Given the description of an element on the screen output the (x, y) to click on. 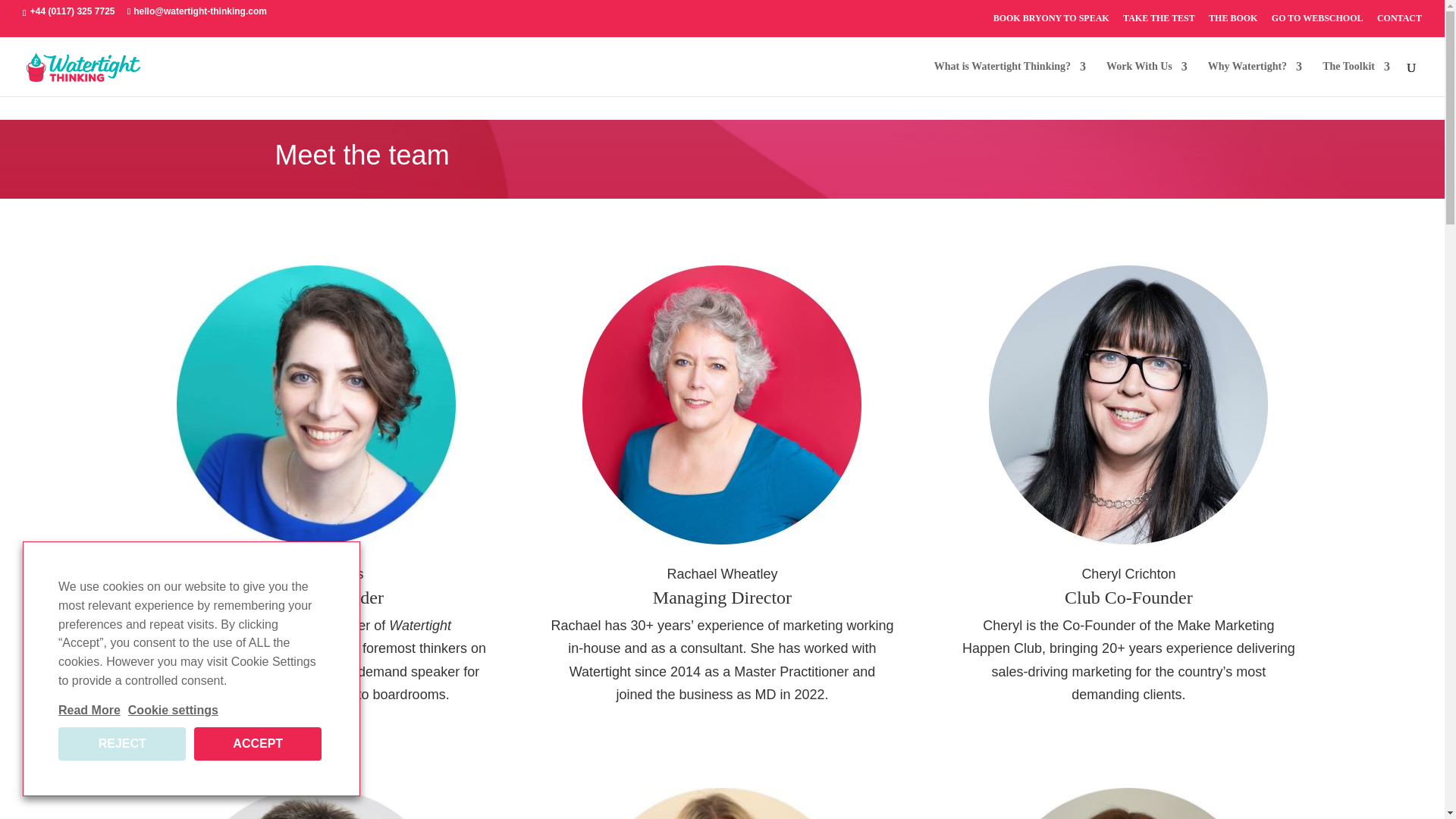
Why Watertight? (1254, 78)
TAKE THE TEST (1158, 21)
THE BOOK (1232, 21)
The Toolkit (1356, 78)
What is Watertight Thinking? (1010, 78)
GO TO WEBSCHOOL (1316, 21)
Work With Us (1147, 78)
BOOK BRYONY TO SPEAK (1050, 21)
CONTACT (1399, 21)
